Given the description of an element on the screen output the (x, y) to click on. 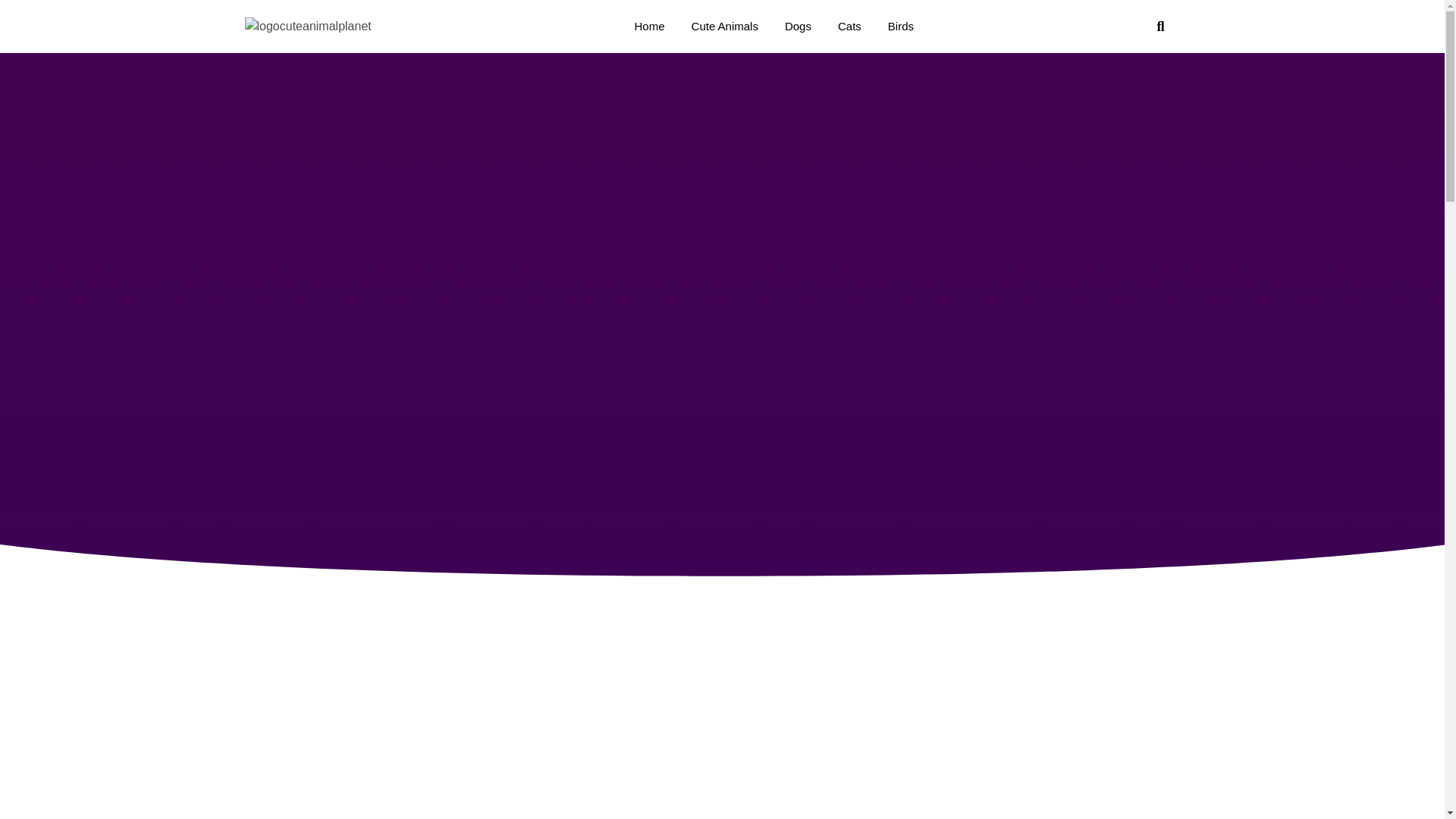
logocuteanimalplanet (307, 26)
Cute Animals (724, 26)
